Given the description of an element on the screen output the (x, y) to click on. 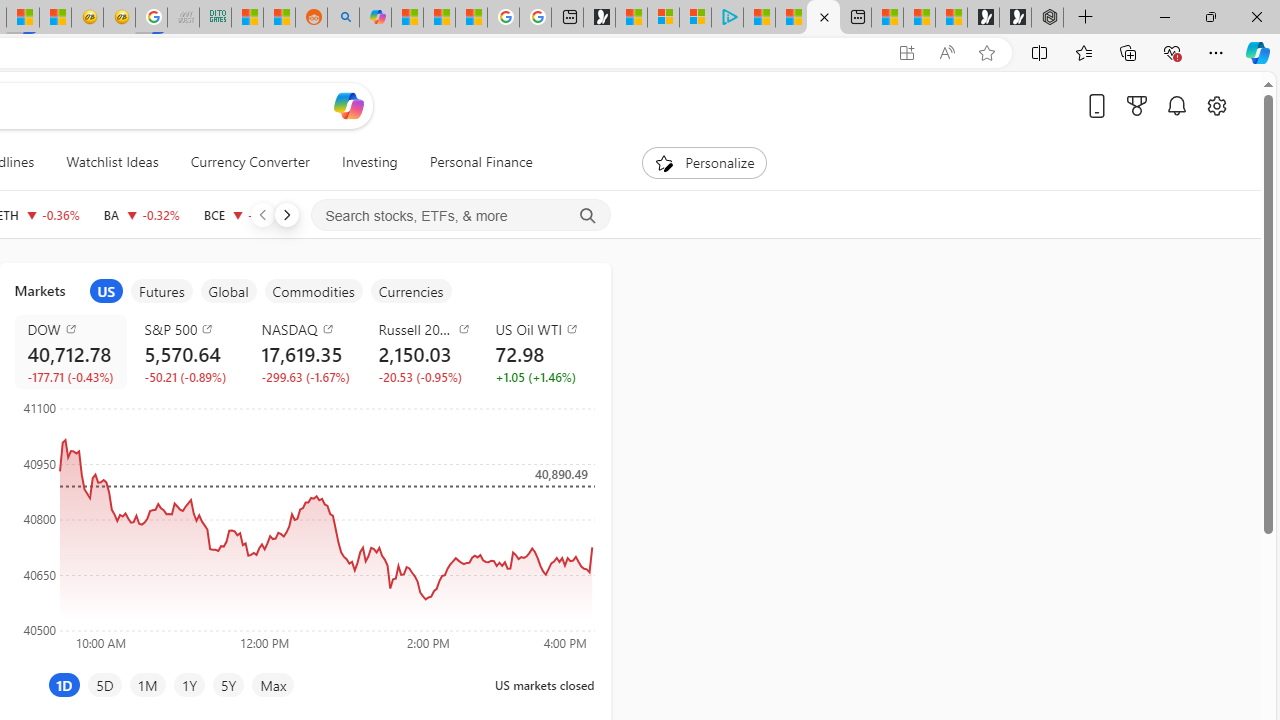
Watchlist Ideas (112, 162)
Russell 2000 RUT decrease 2,150.03 -20.53 -0.95% (420, 351)
Max (273, 684)
Watchlist Ideas (112, 162)
Personal Finance (480, 162)
Russell 2000 (424, 328)
US Oil WTI USOIL increase 72.98 +1.05 +1.46% (538, 351)
Microsoft Copilot in Bing (374, 17)
Previous (262, 214)
